Given the description of an element on the screen output the (x, y) to click on. 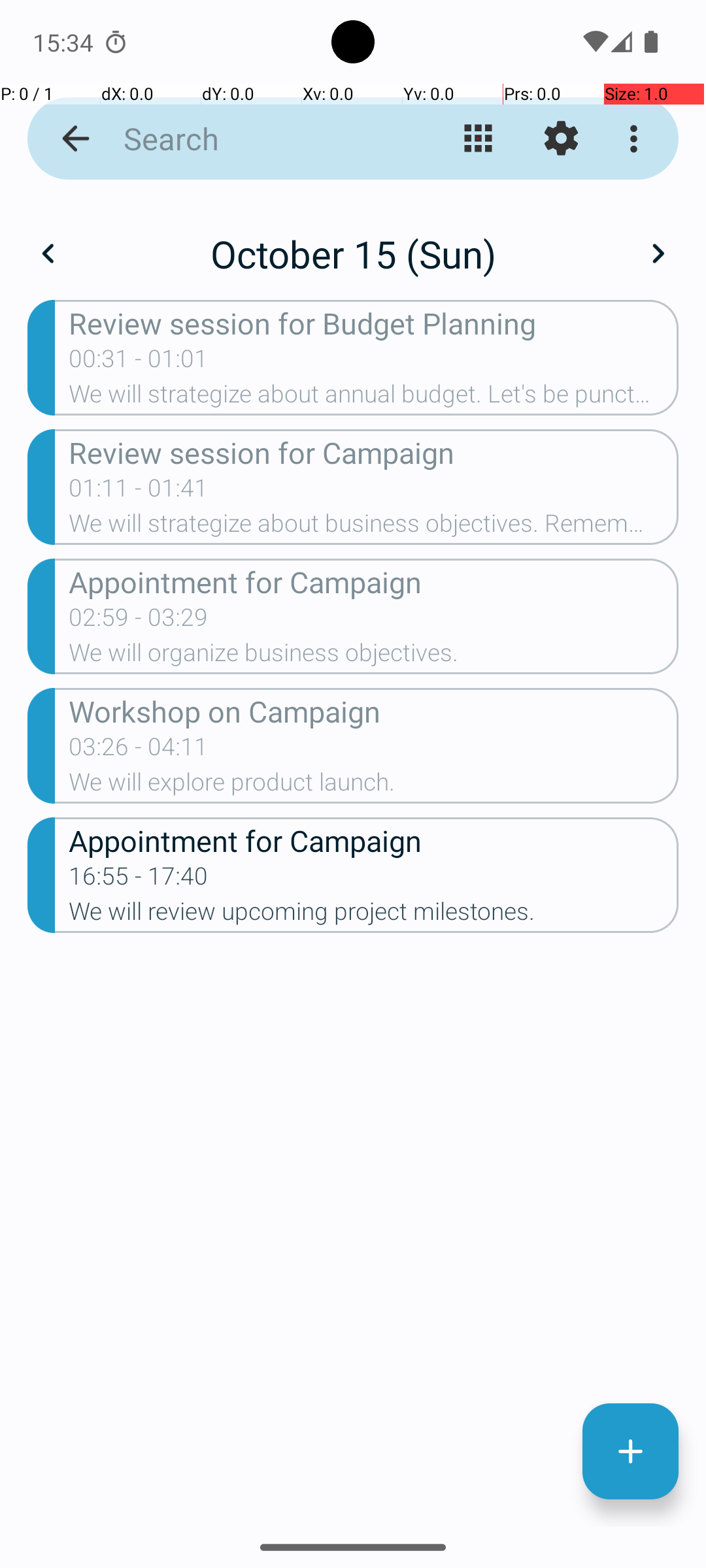
00:31 - 01:01 Element type: android.widget.TextView (137, 362)
We will strategize about annual budget. Let's be punctual. Element type: android.widget.TextView (373, 397)
01:11 - 01:41 Element type: android.widget.TextView (137, 491)
We will strategize about business objectives. Remember to confirm attendance. Element type: android.widget.TextView (373, 526)
02:59 - 03:29 Element type: android.widget.TextView (137, 620)
We will organize business objectives. Element type: android.widget.TextView (373, 656)
03:26 - 04:11 Element type: android.widget.TextView (137, 750)
We will explore product launch. Element type: android.widget.TextView (373, 785)
16:55 - 17:40 Element type: android.widget.TextView (137, 879)
We will review upcoming project milestones. Element type: android.widget.TextView (373, 914)
